Given the description of an element on the screen output the (x, y) to click on. 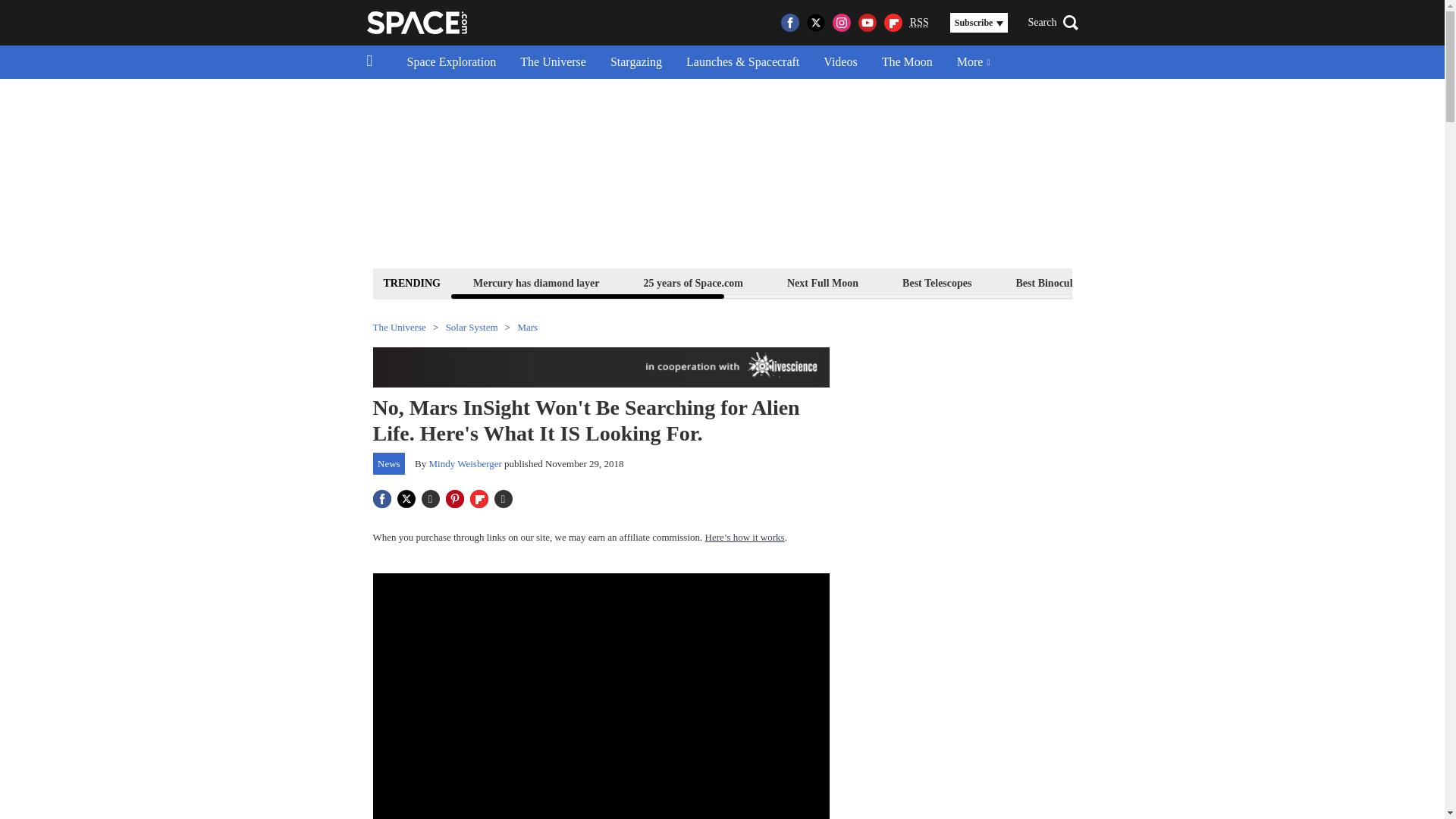
Space Exploration (451, 61)
Best Star Projectors (1176, 282)
Mercury has diamond layer (536, 282)
The Universe (553, 61)
Best Telescopes (936, 282)
25 years of Space.com (693, 282)
Best Binoculars (1051, 282)
The Moon (906, 61)
Stargazing (636, 61)
Really Simple Syndication (919, 21)
Space Calendar (1301, 282)
Next Full Moon (822, 282)
RSS (919, 22)
Videos (839, 61)
